Given the description of an element on the screen output the (x, y) to click on. 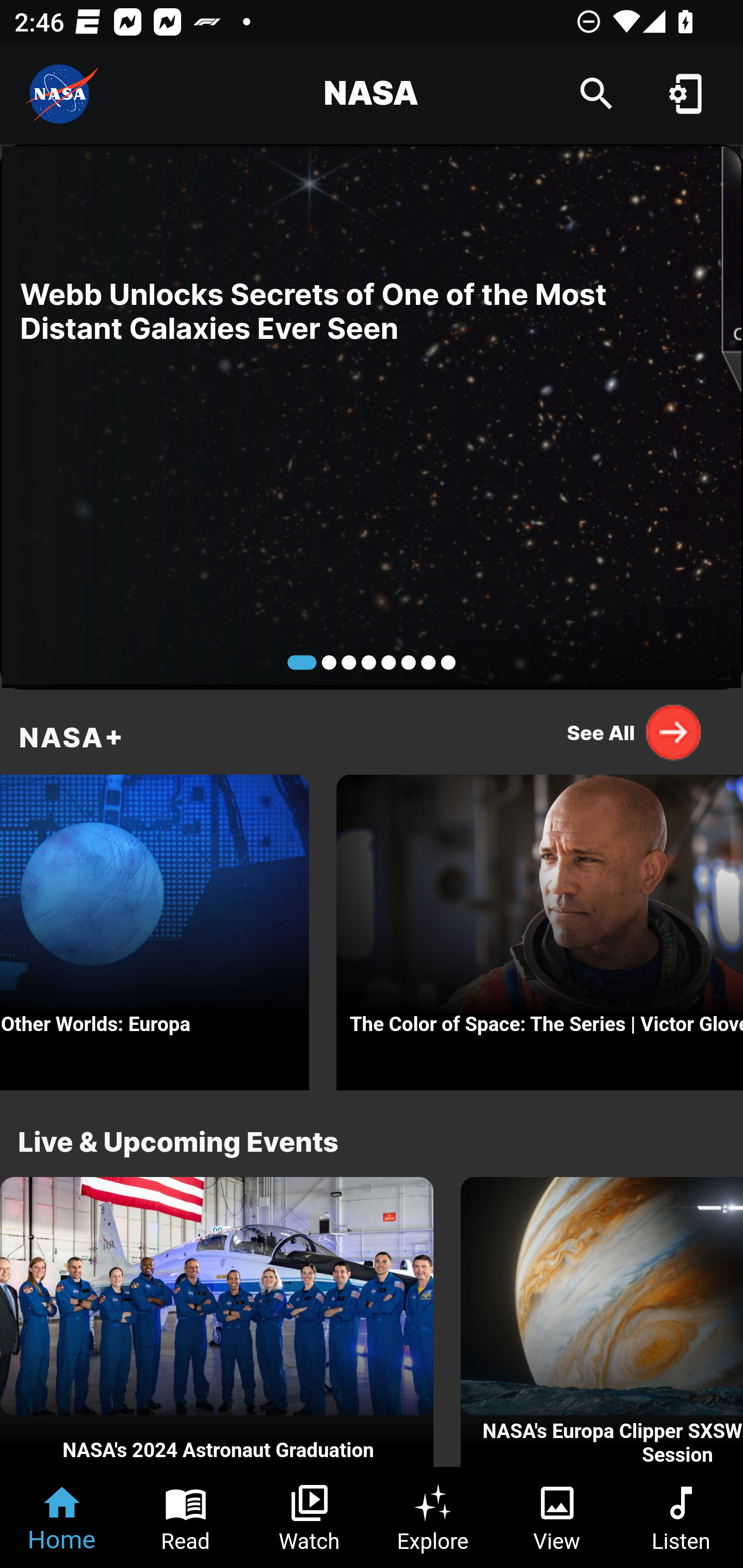
See All (634, 732)
Other Worlds: Europa (154, 927)
The Color of Space: The Series | Victor Glover (539, 927)
NASA's 2024 Astronaut Graduation (216, 1322)
NASA's Europa Clipper SXSW 2024 Opening Session (601, 1322)
Home
Tab 1 of 6 (62, 1517)
Read
Tab 2 of 6 (185, 1517)
Watch
Tab 3 of 6 (309, 1517)
Explore
Tab 4 of 6 (433, 1517)
View
Tab 5 of 6 (556, 1517)
Listen
Tab 6 of 6 (680, 1517)
